Given the description of an element on the screen output the (x, y) to click on. 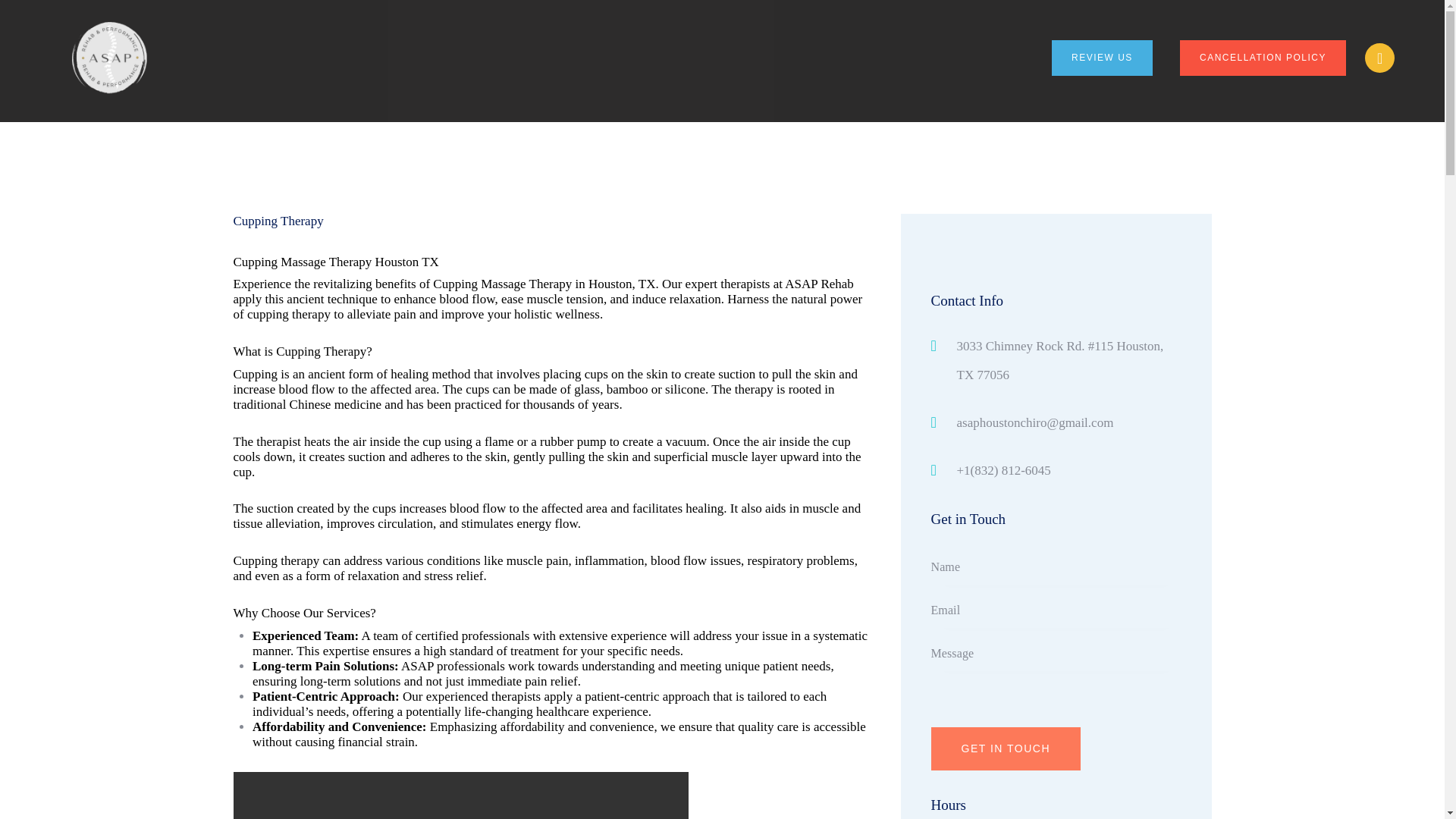
REVIEW US (1102, 58)
Get In Touch (1006, 748)
CANCELLATION POLICY (1262, 58)
